Given the description of an element on the screen output the (x, y) to click on. 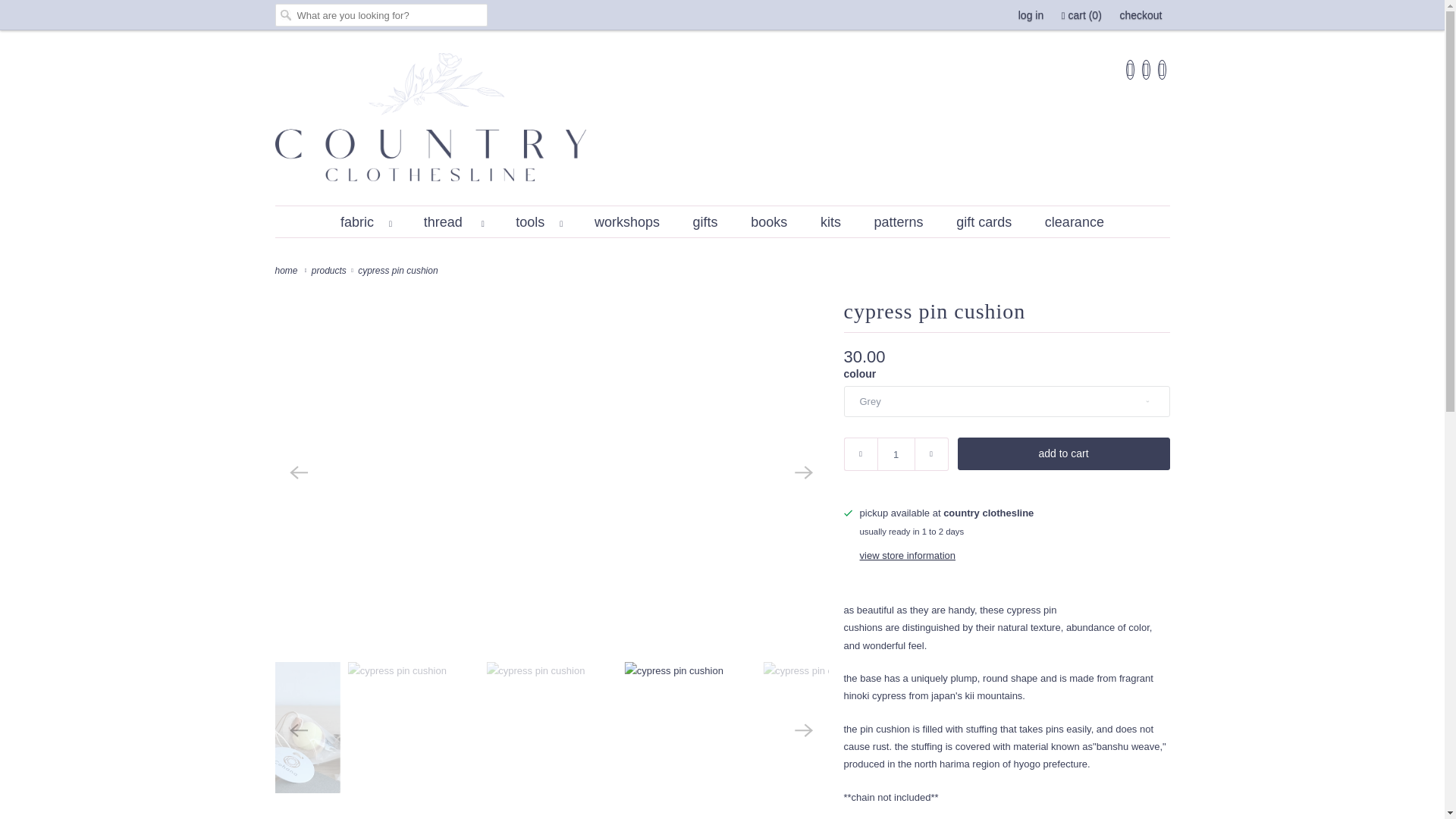
1 (895, 453)
country clothesline (288, 270)
checkout (1140, 15)
log in (1030, 15)
country clothesline (722, 121)
Products (330, 270)
